Given the description of an element on the screen output the (x, y) to click on. 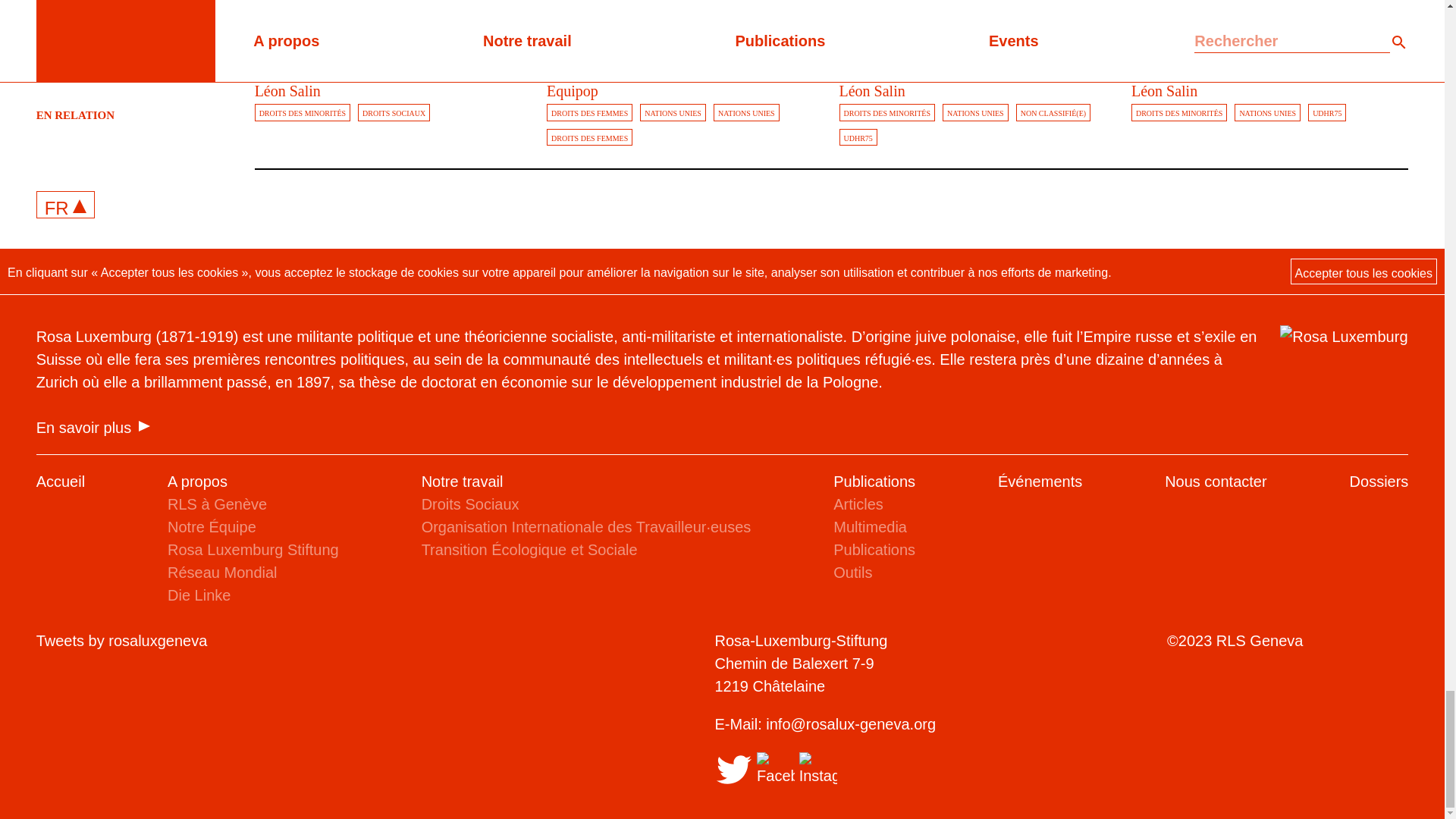
NATIONS UNIES (673, 112)
Articles (1153, 30)
UDHR75 (857, 137)
Articles (568, 30)
DROITS DES FEMMES (589, 112)
DROITS SOCIAUX (393, 112)
DROITS DES FEMMES (589, 137)
Articles (609, 30)
NATIONS UNIES (745, 112)
Articles (861, 30)
